Given the description of an element on the screen output the (x, y) to click on. 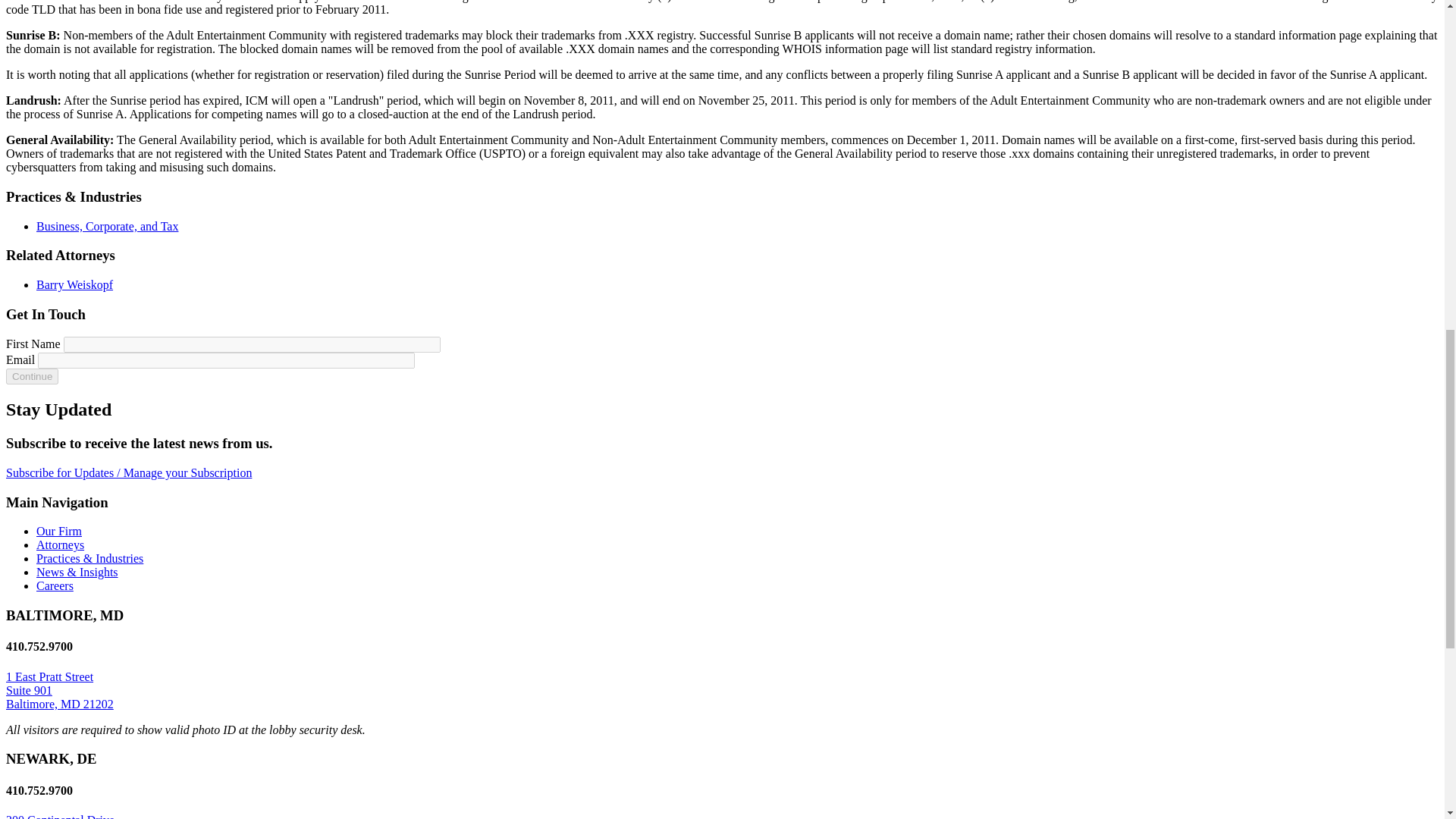
Map and Directions (60, 816)
Business, Corporate, and Tax (106, 226)
Careers at Tydings (55, 585)
Continue (31, 376)
Our Firm (58, 530)
Subscribe to our latest news and alerts (128, 472)
Attorneys (60, 544)
Barry Weiskopf (74, 284)
Map and Directions (59, 690)
Continue (31, 376)
